Given the description of an element on the screen output the (x, y) to click on. 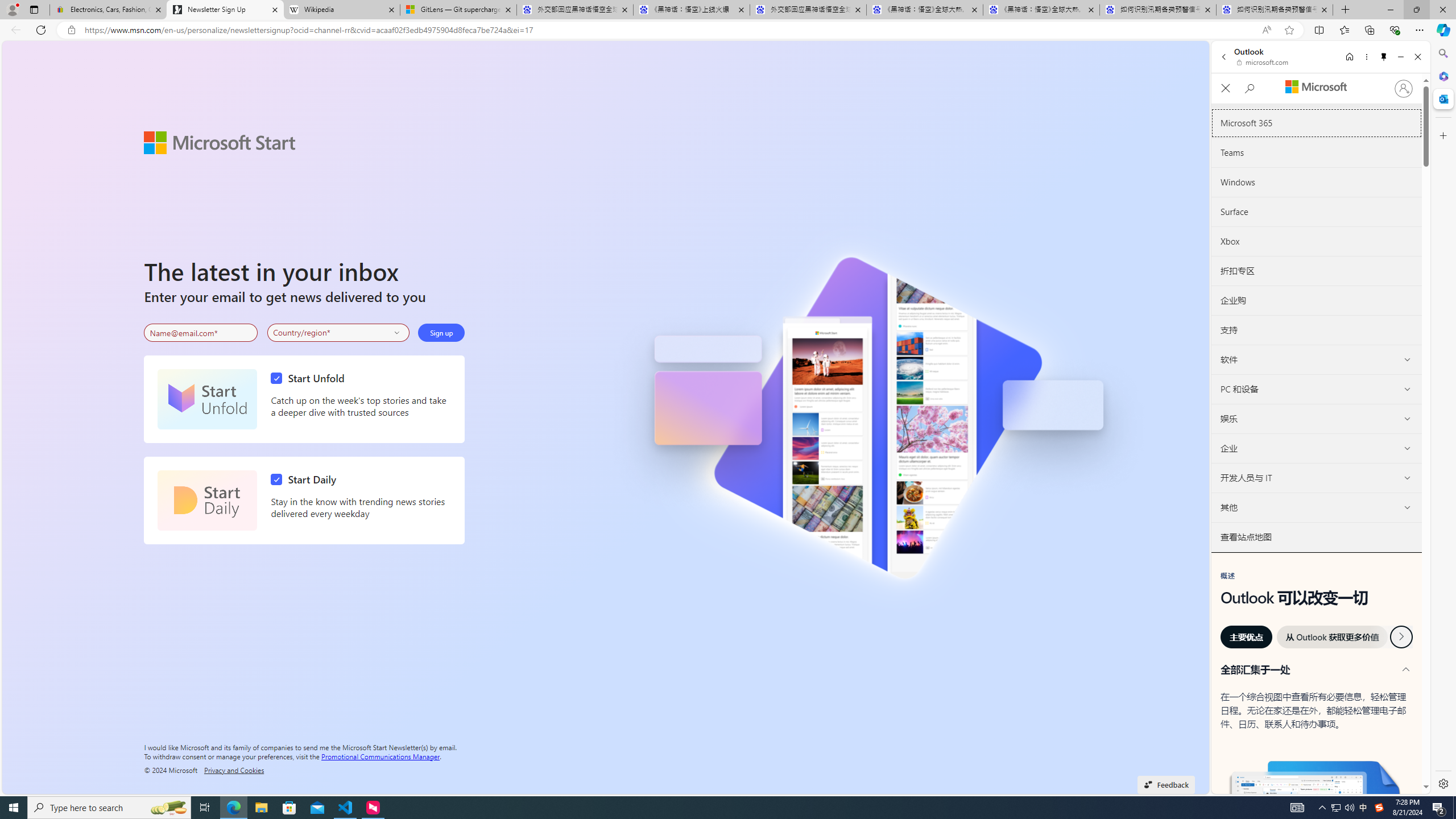
Teams (1316, 152)
Start Unfold (310, 378)
